Given the description of an element on the screen output the (x, y) to click on. 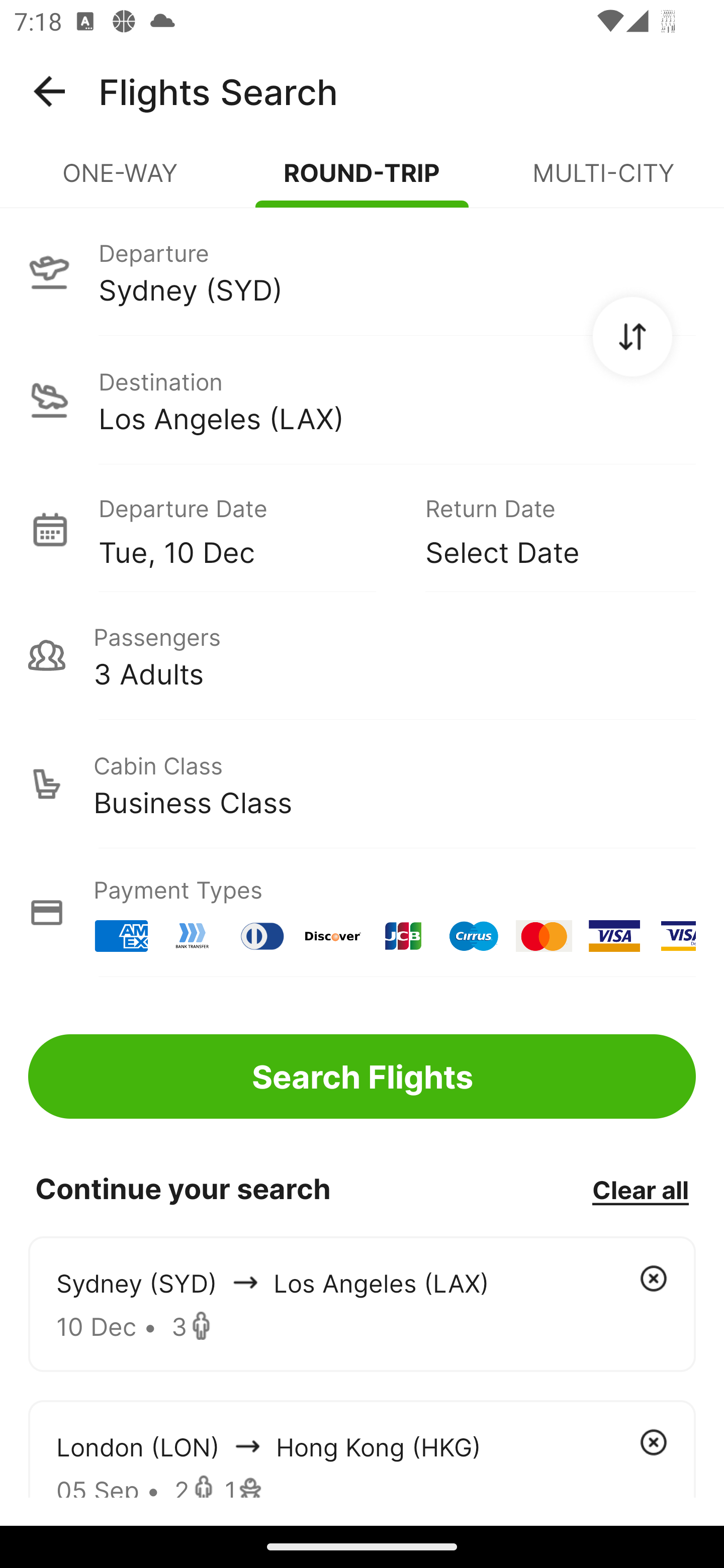
ONE-WAY (120, 180)
ROUND-TRIP (361, 180)
MULTI-CITY (603, 180)
Departure Sydney (SYD) (362, 270)
Destination Los Angeles (LAX) (362, 400)
Departure Date Tue, 10 Dec (247, 528)
Return Date Select Date (546, 528)
Passengers 3 Adults (362, 655)
Cabin Class Business Class (362, 783)
Payment Types (362, 912)
Search Flights (361, 1075)
Clear all (640, 1189)
